Given the description of an element on the screen output the (x, y) to click on. 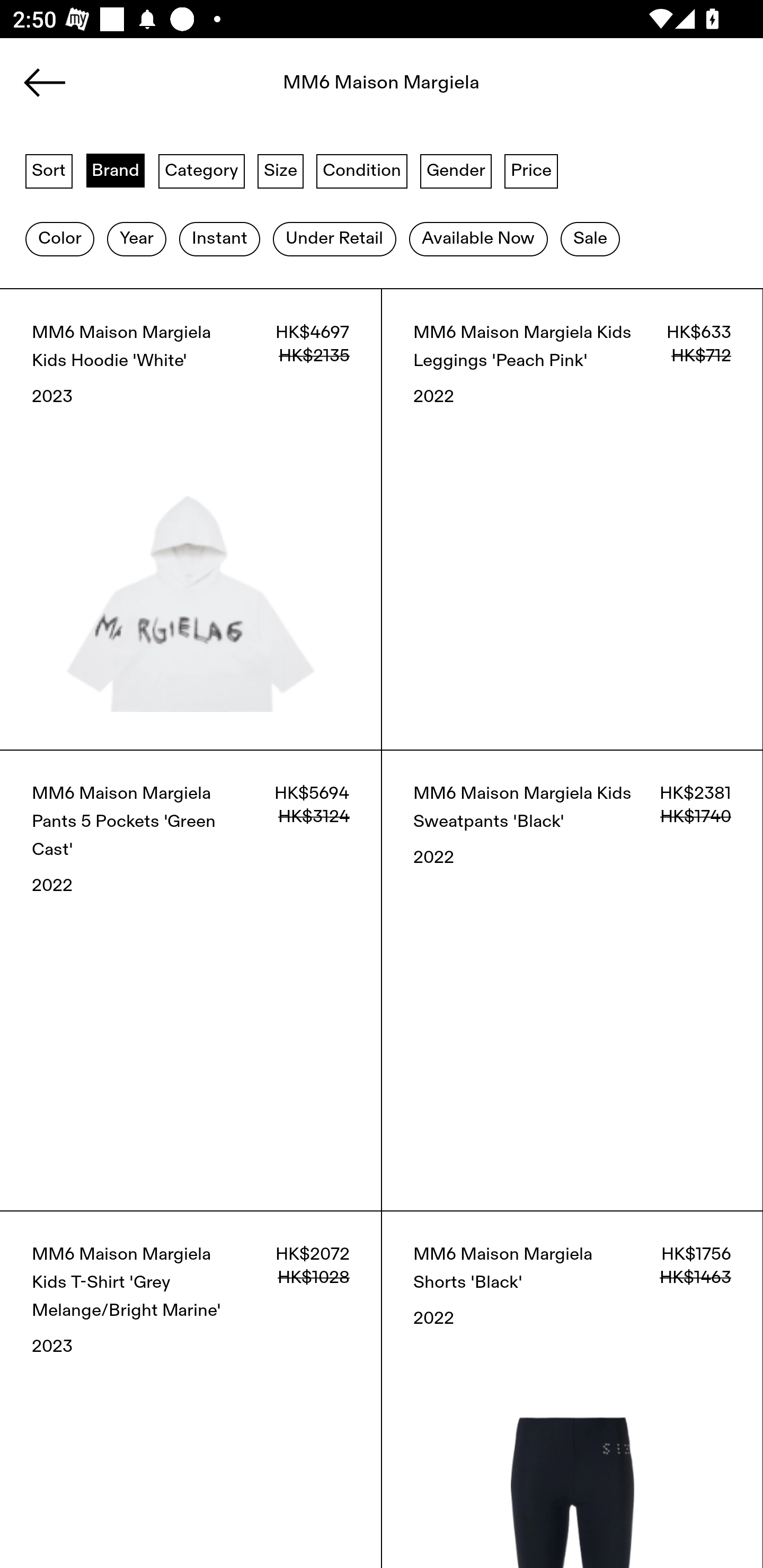
Sort (48, 170)
Brand (115, 170)
Category (201, 170)
Size (280, 170)
Condition (361, 170)
Gender (455, 170)
Price (530, 170)
Color (59, 239)
Year (136, 239)
Instant (219, 239)
Under Retail (334, 239)
Available Now (477, 239)
Sale (589, 239)
